Given the description of an element on the screen output the (x, y) to click on. 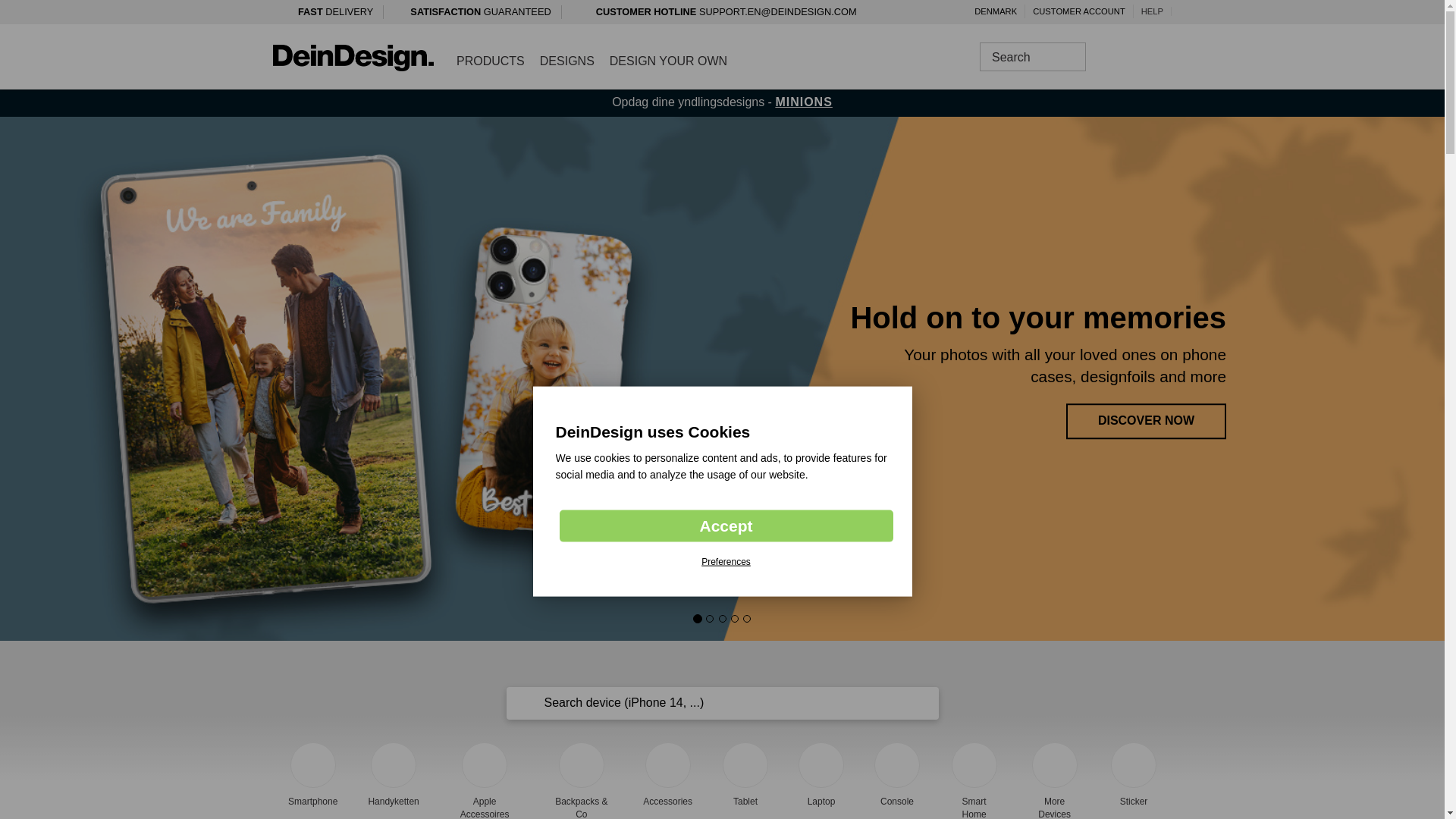
CUSTOMER ACCOUNT (1079, 11)
DENMARK (995, 11)
HELP (1153, 10)
Help (1153, 10)
PRODUCTS (490, 61)
FAST DELIVERY (333, 13)
SATISFACTION GUARANTEED (481, 13)
